Given the description of an element on the screen output the (x, y) to click on. 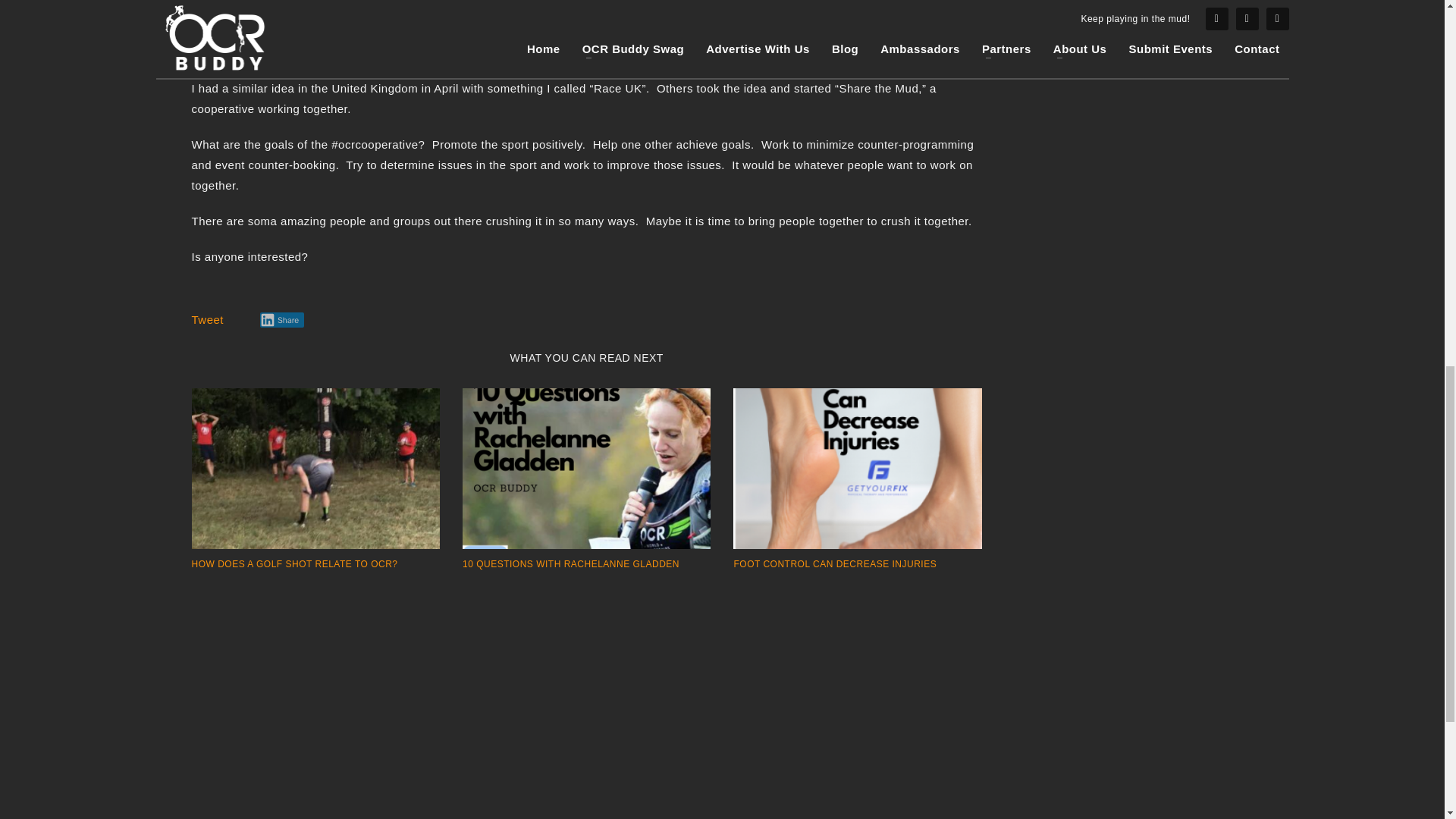
Share (281, 319)
10 QUESTIONS WITH RACHELANNE GLADDEN (571, 563)
Tweet (207, 318)
10 Questions with Rachelanne Gladden (586, 468)
OCRGolf (314, 468)
FOOT CONTROL CAN DECREASE INJURIES (834, 563)
HOW DOES A GOLF SHOT RELATE TO OCR? (293, 563)
